Given the description of an element on the screen output the (x, y) to click on. 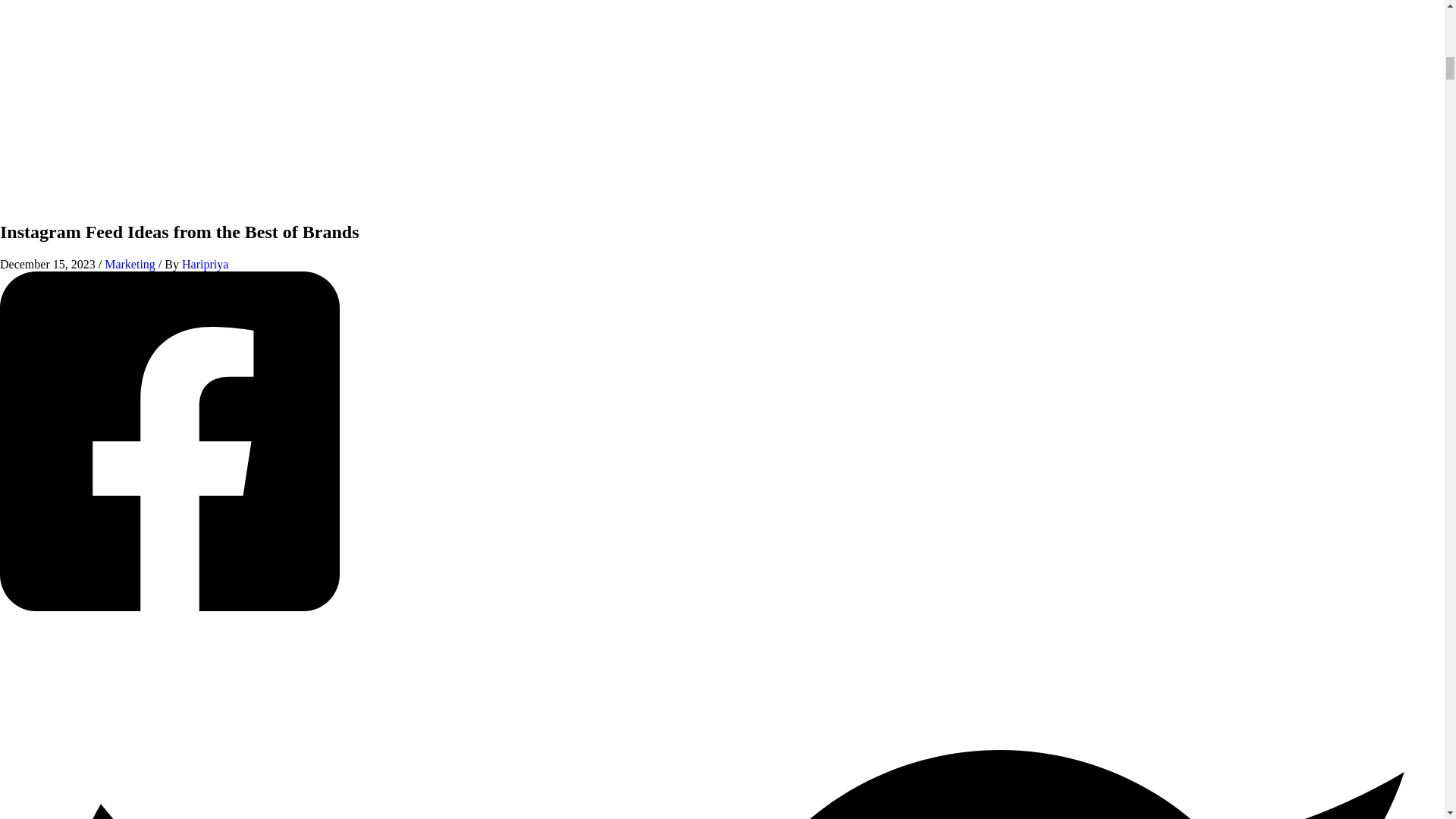
View all posts by Haripriya (205, 264)
